Given the description of an element on the screen output the (x, y) to click on. 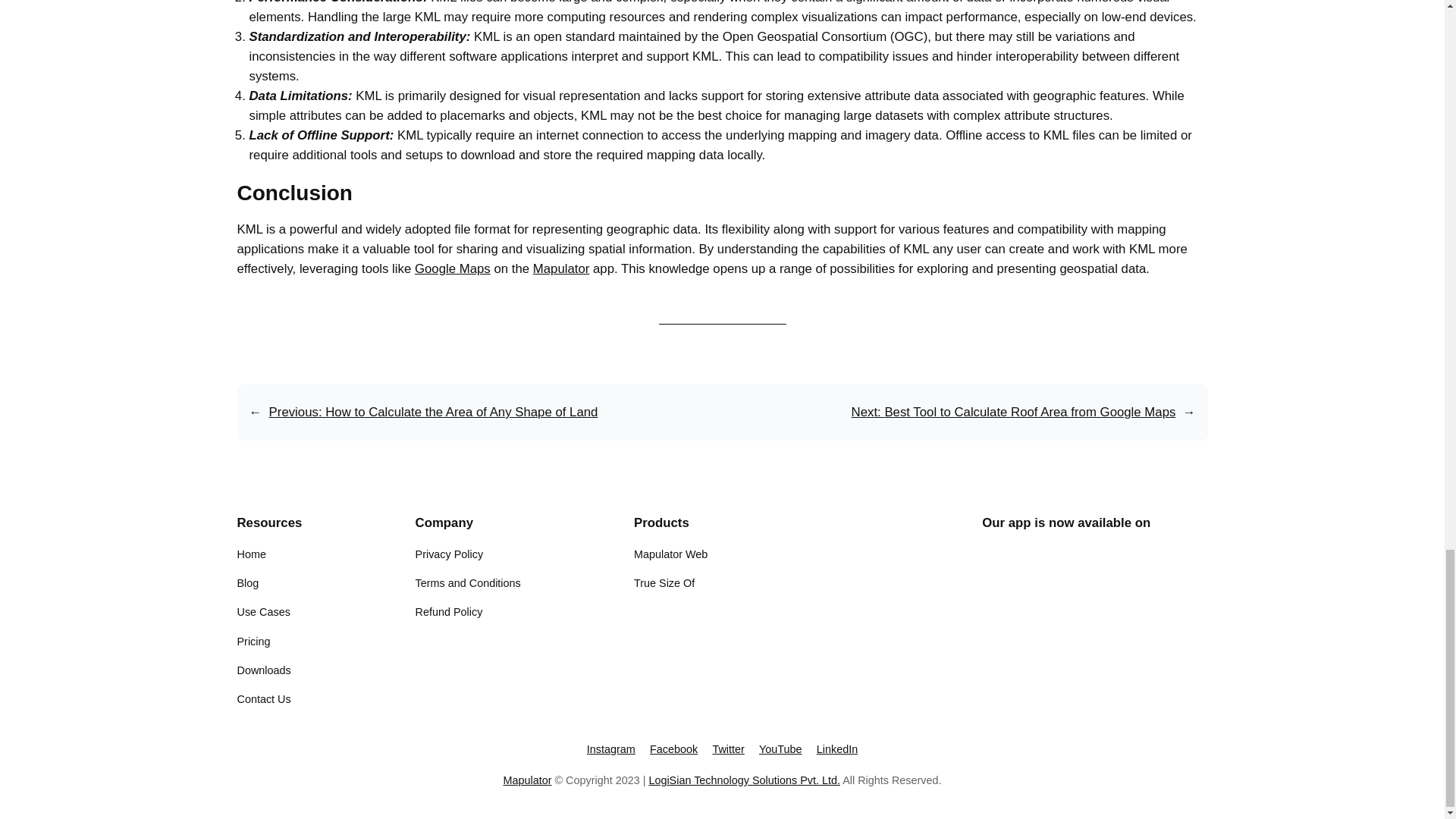
Privacy Policy (448, 554)
Facebook (673, 748)
Contact Us (262, 699)
Previous: How to Calculate the Area of Any Shape of Land (433, 411)
Google Maps (452, 268)
Mapulator Web (670, 554)
Downloads (262, 669)
Refund Policy (448, 611)
Home (249, 554)
Blog (247, 582)
Mapulator (560, 268)
Pricing (252, 641)
Terms and Conditions (467, 582)
Use Cases (262, 611)
Next: Best Tool to Calculate Roof Area from Google Maps (1013, 411)
